Given the description of an element on the screen output the (x, y) to click on. 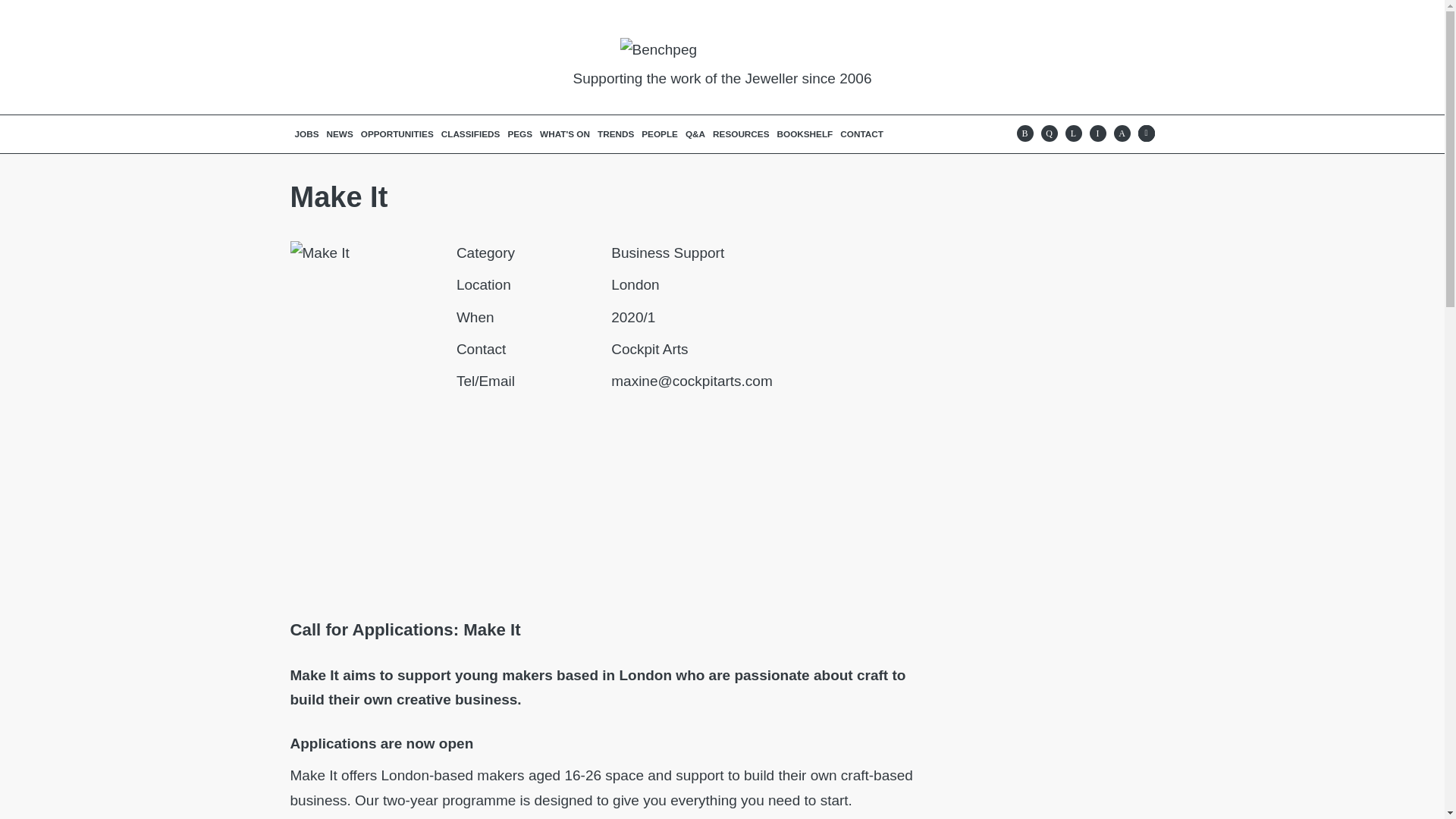
TRENDS (615, 134)
A (1121, 133)
WHAT'S ON (564, 134)
CONTACT (860, 134)
PEOPLE (659, 134)
RESOURCES (741, 134)
CLASSIFIEDS (470, 134)
Search (1145, 133)
NEWS (339, 134)
